Given the description of an element on the screen output the (x, y) to click on. 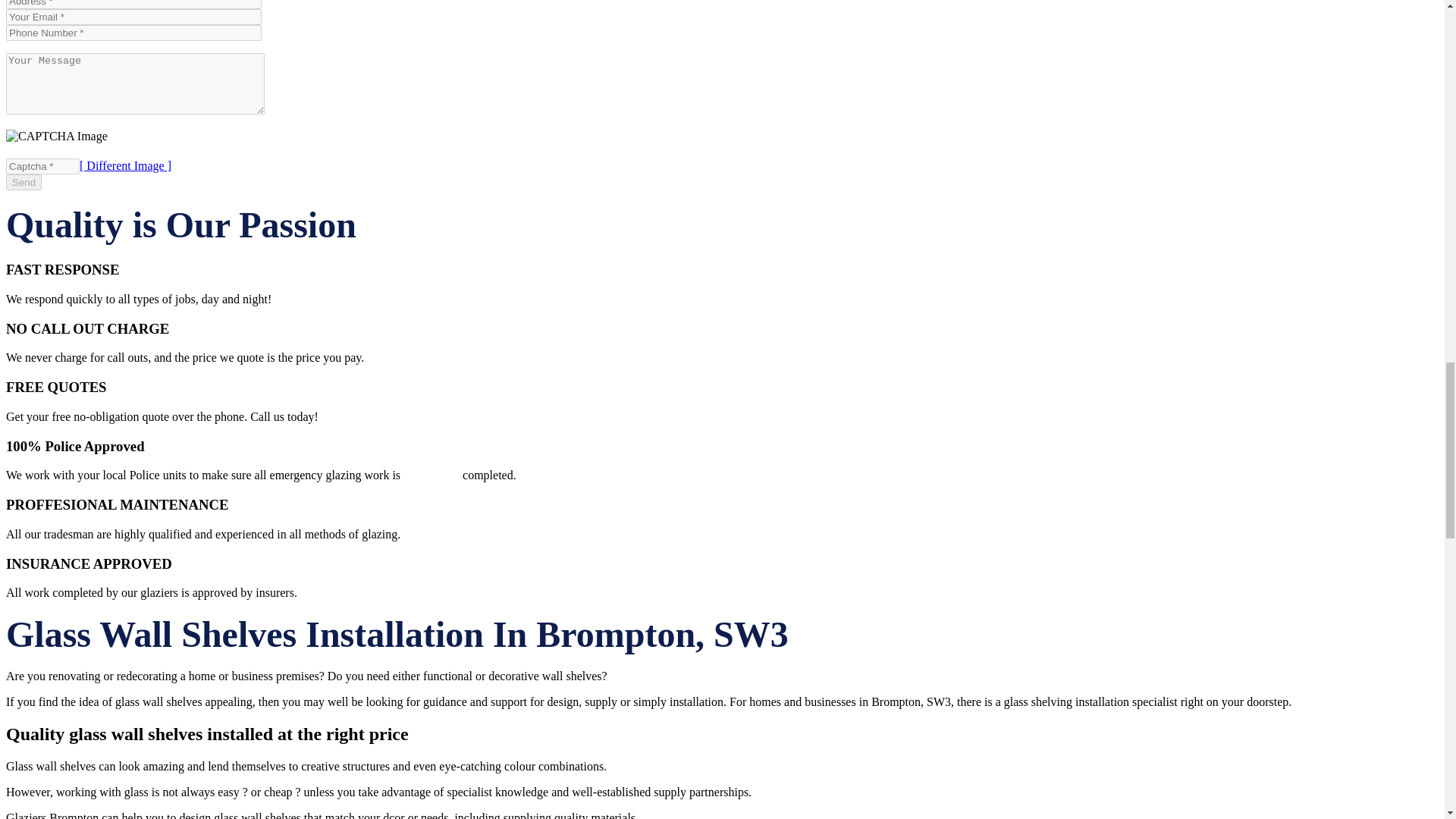
Send (23, 182)
Send (23, 182)
